Given the description of an element on the screen output the (x, y) to click on. 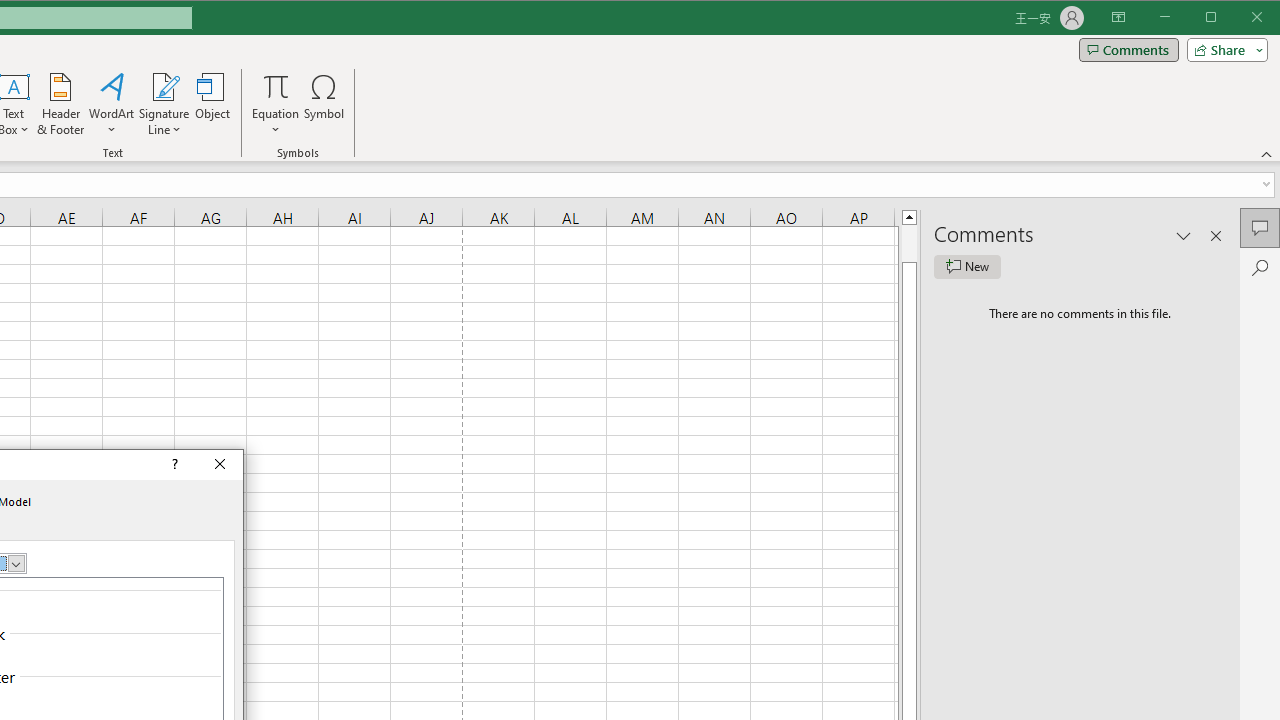
Signature Line (164, 104)
Header & Footer... (60, 104)
Object... (213, 104)
